Given the description of an element on the screen output the (x, y) to click on. 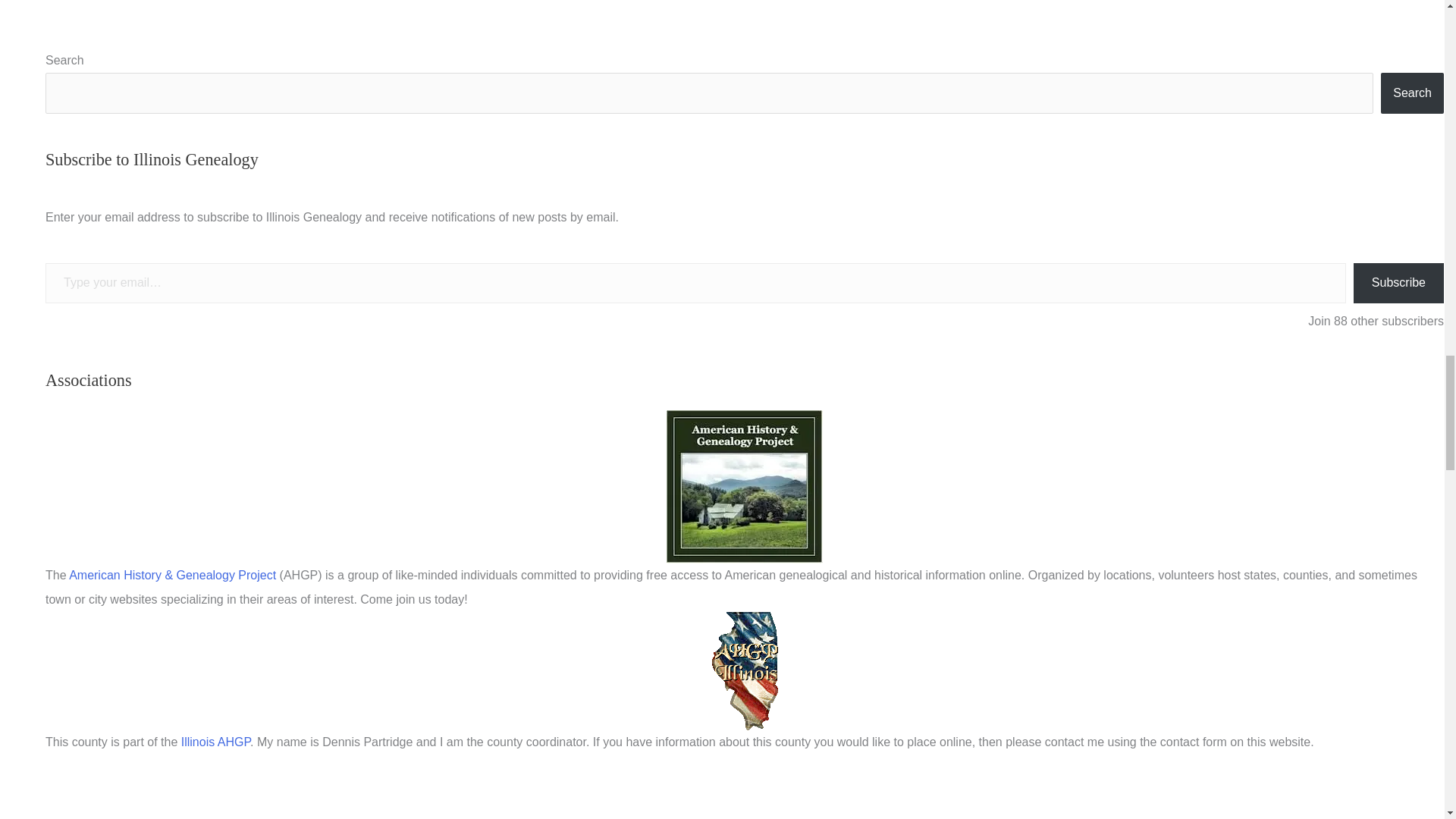
Subscribe (1399, 282)
Please fill in this field. (695, 282)
Illinois AHGP (215, 741)
Search (1412, 92)
